Given the description of an element on the screen output the (x, y) to click on. 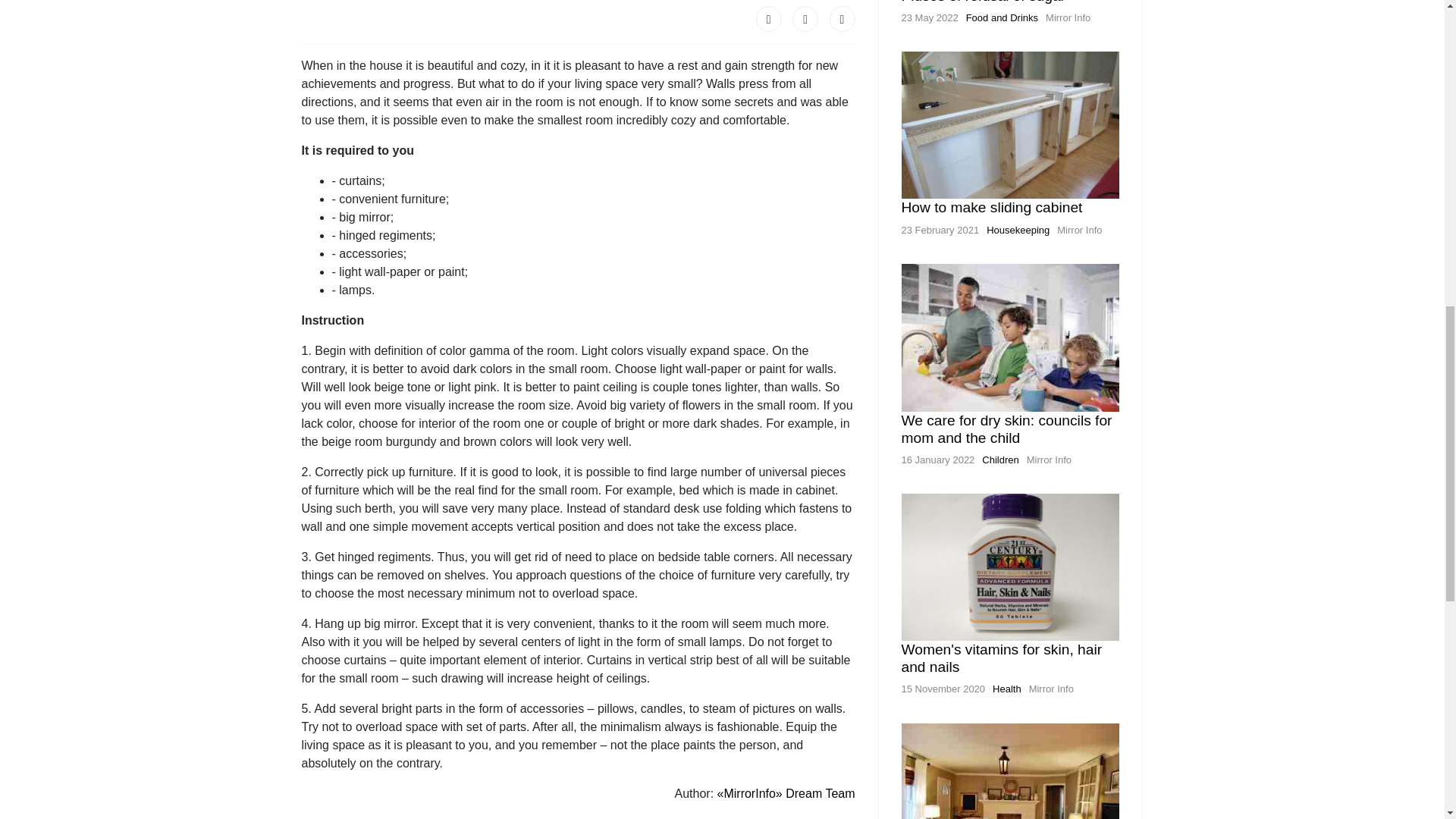
LinkedIn (842, 18)
Food and Drinks (1002, 17)
Pluses of refusal of sugar (983, 2)
How to make sliding cabinet (991, 207)
Twitter (805, 18)
Facebook (768, 18)
Housekeeping (1018, 229)
Children (999, 460)
We care for dry skin: councils for mom and the child (1006, 428)
